Given the description of an element on the screen output the (x, y) to click on. 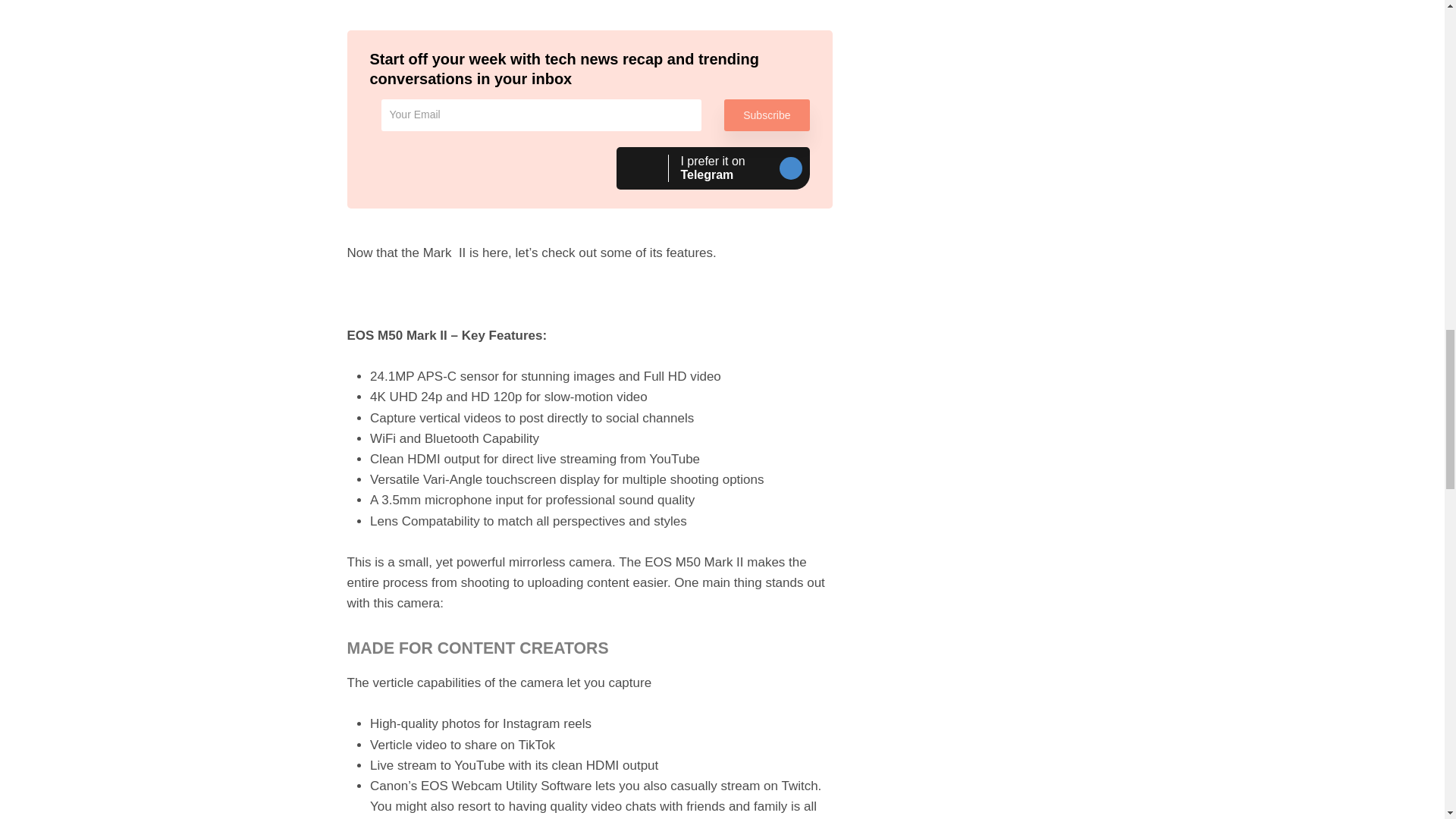
Subscribe (766, 115)
